Given the description of an element on the screen output the (x, y) to click on. 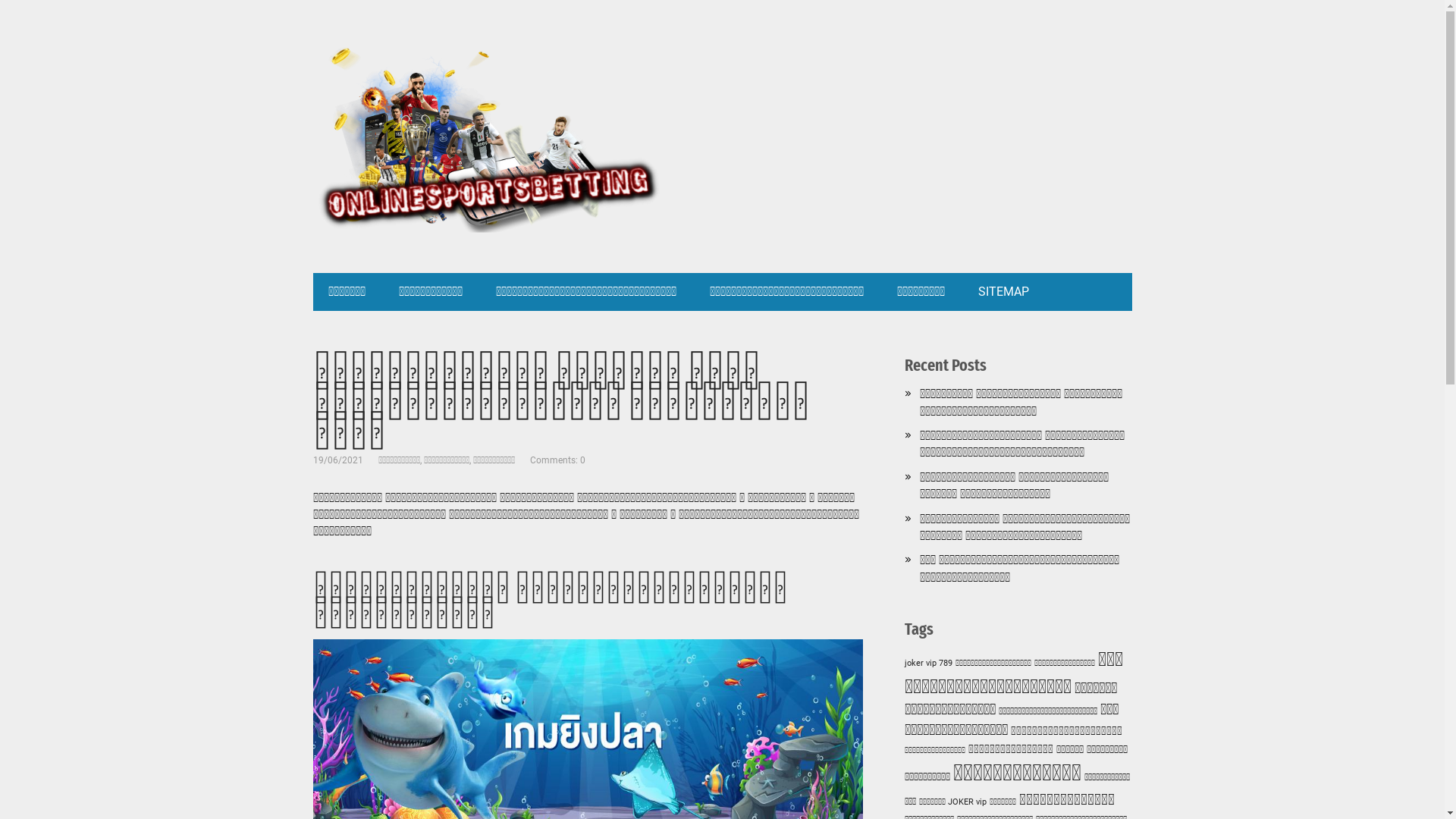
Comments: 0 Element type: text (556, 460)
SITEMAP Element type: text (1003, 291)
joker vip 789 Element type: text (927, 663)
